Given the description of an element on the screen output the (x, y) to click on. 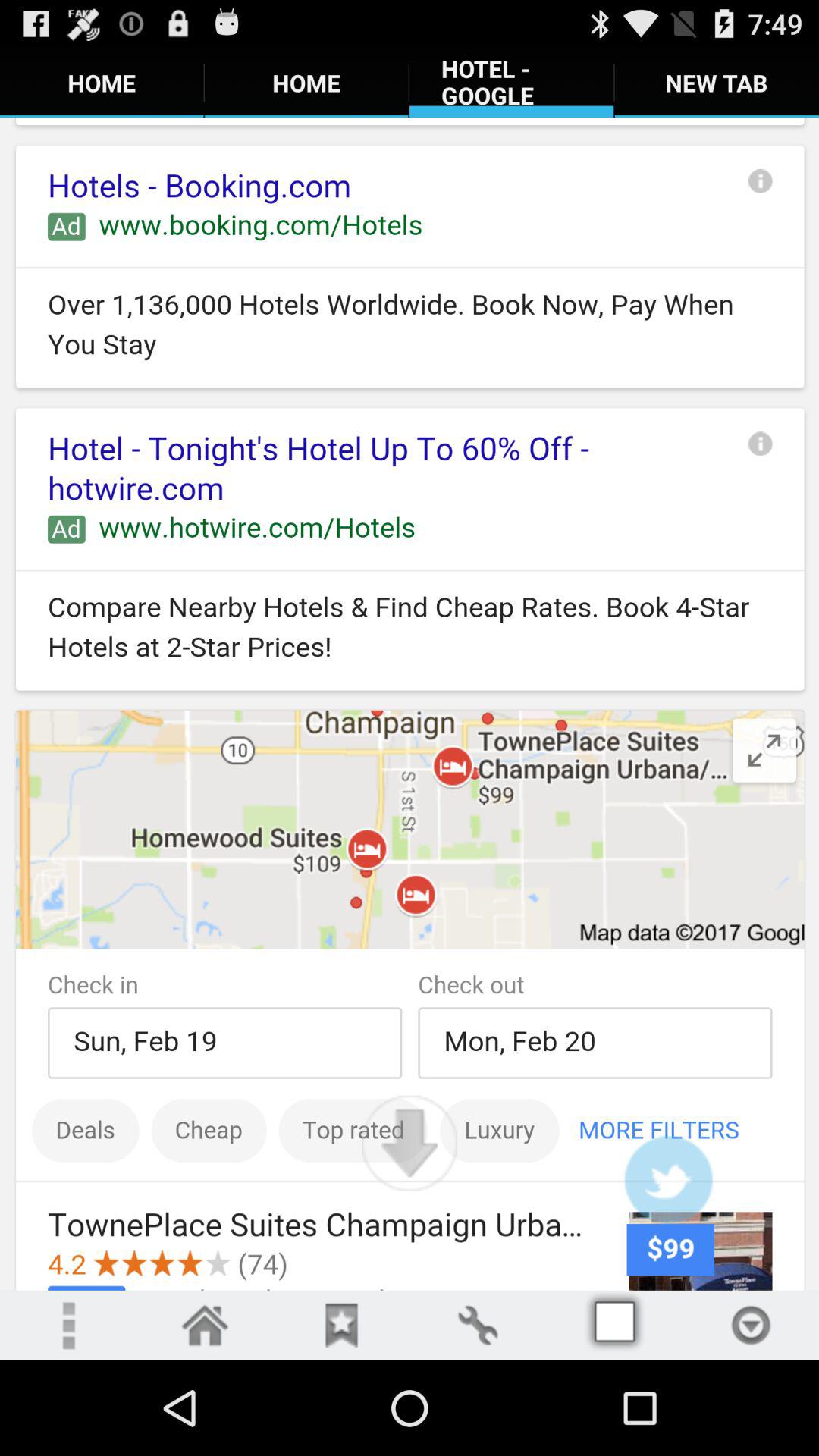
favorite page (341, 1325)
